Given the description of an element on the screen output the (x, y) to click on. 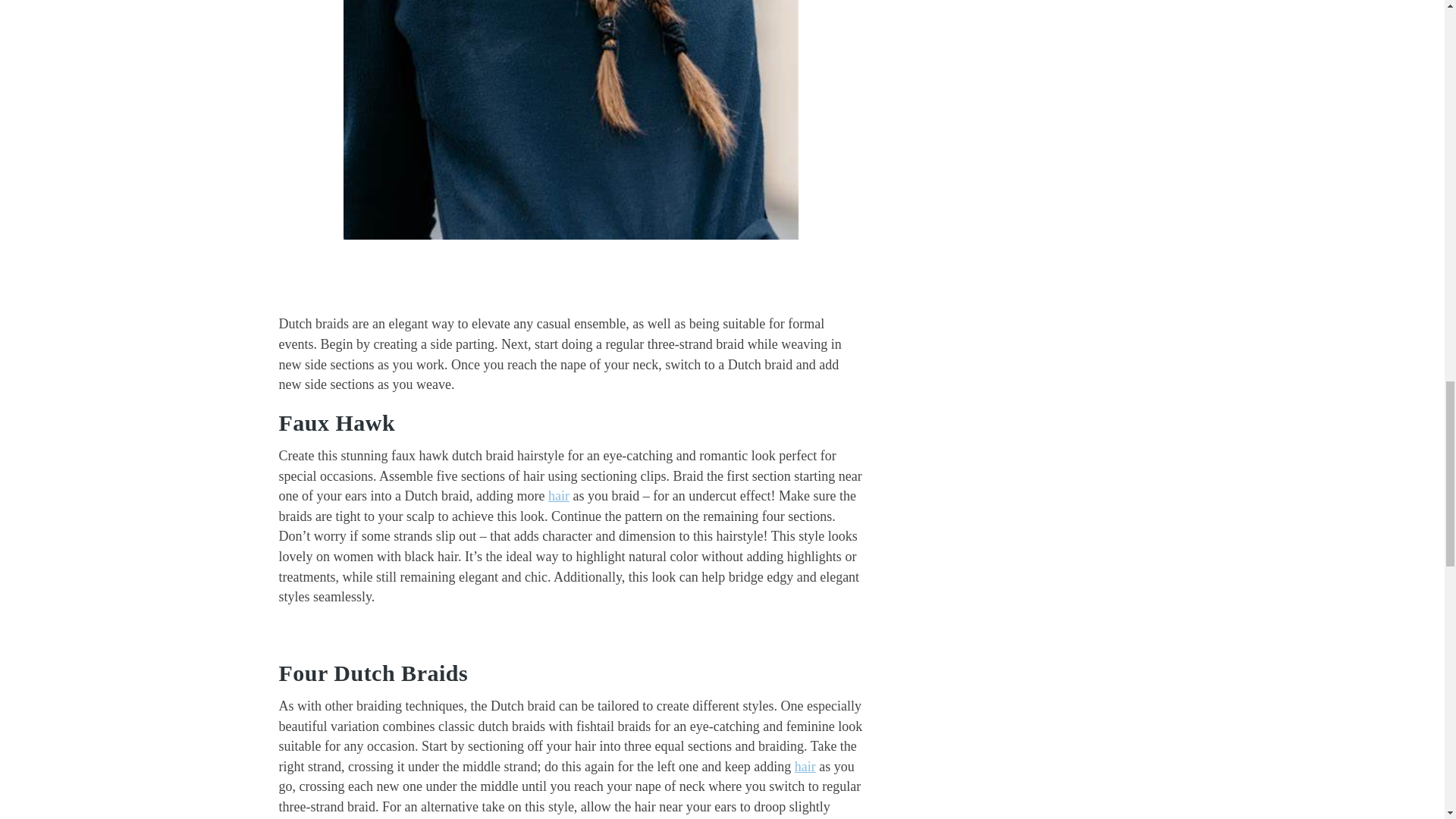
hair (804, 766)
hair (558, 495)
